Given the description of an element on the screen output the (x, y) to click on. 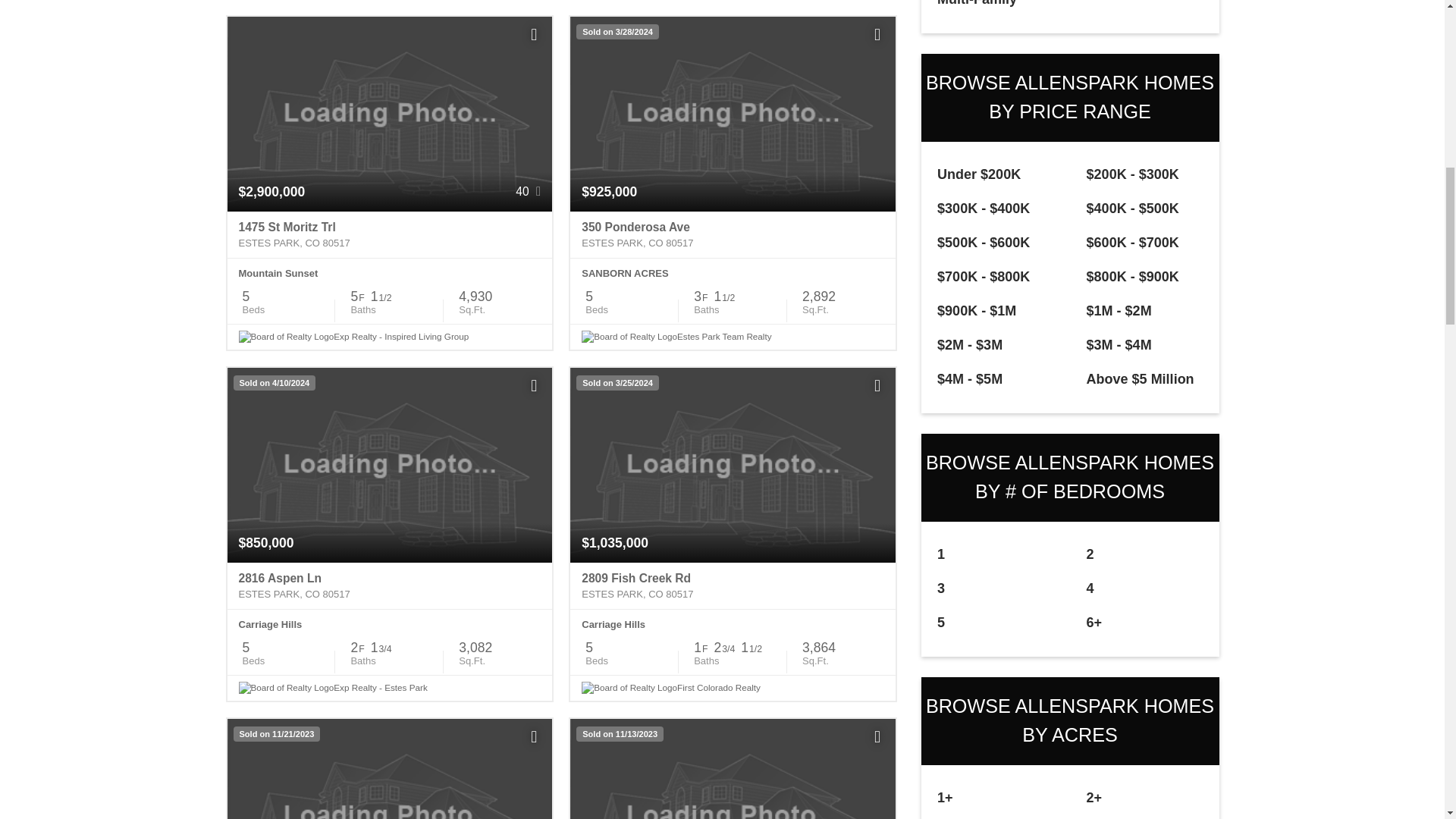
350 Ponderosa Ave Estes Park,  CO 80517 (732, 234)
1475 St Moritz Trl Estes Park,  CO 80517 (390, 234)
2809 Fish Creek Rd Estes Park,  CO 80517 (732, 585)
2816 Aspen Ln Estes Park,  CO 80517 (390, 585)
